Given the description of an element on the screen output the (x, y) to click on. 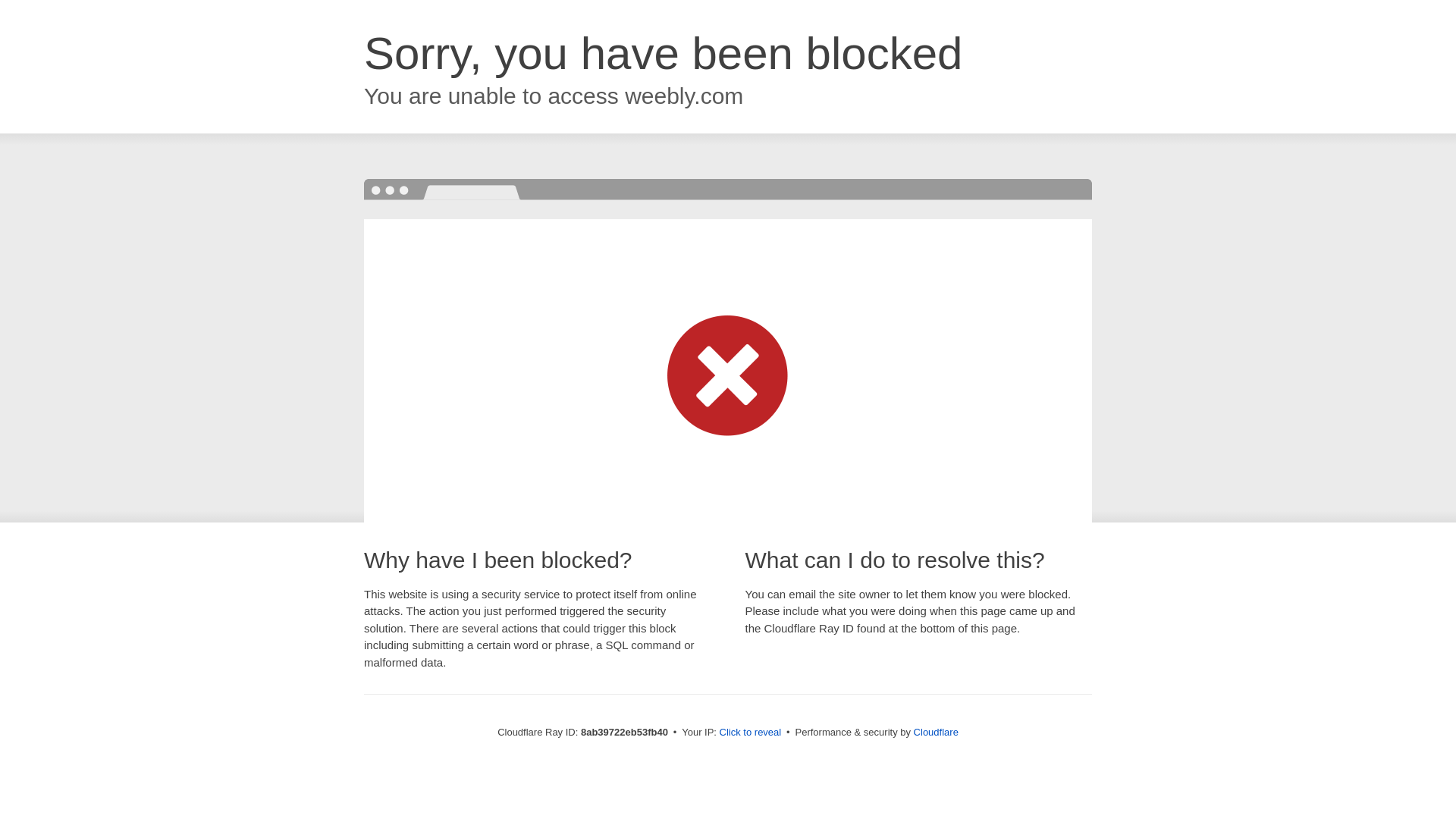
Click to reveal (750, 732)
Cloudflare (936, 731)
